Given the description of an element on the screen output the (x, y) to click on. 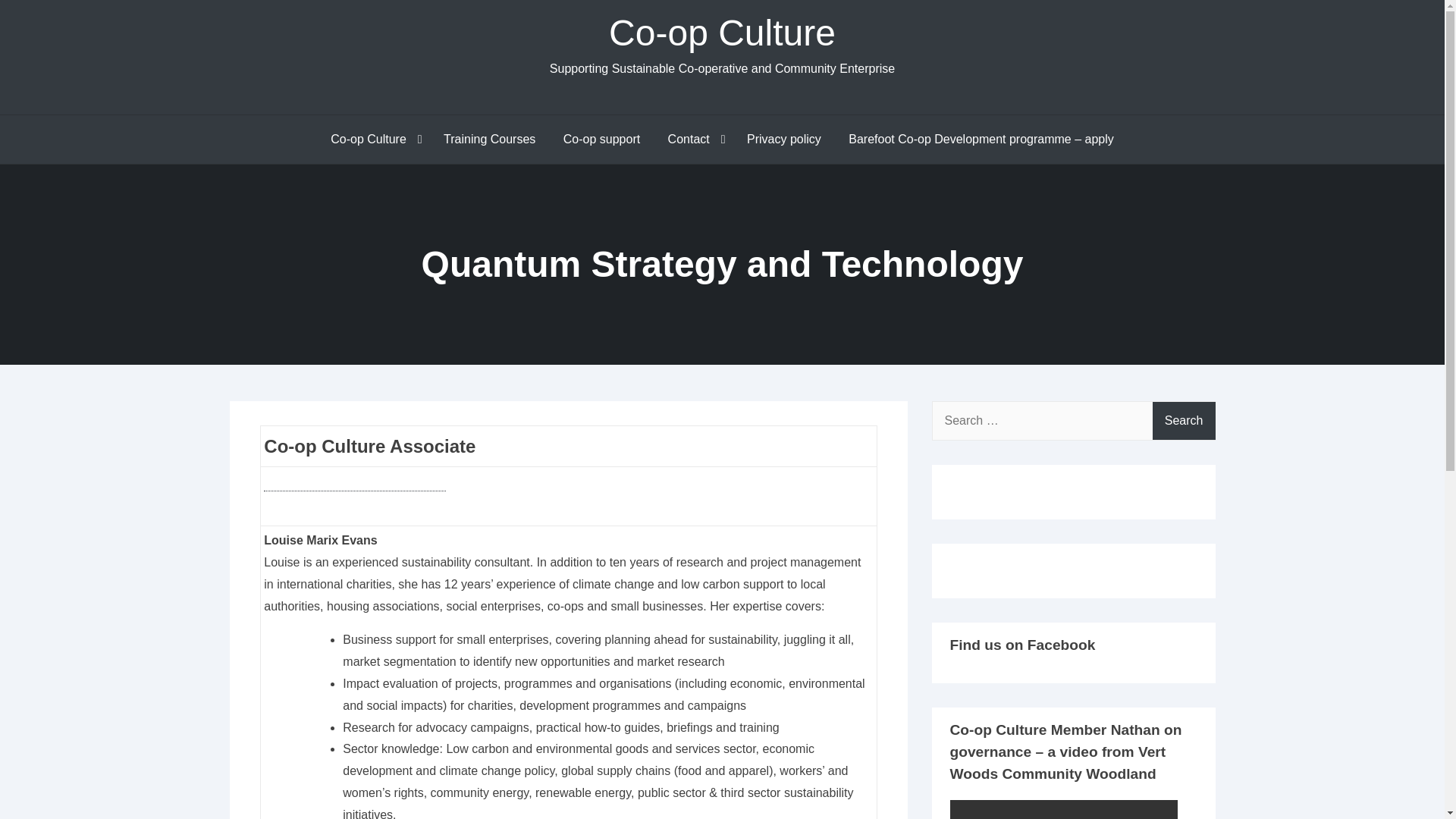
Training Courses (488, 139)
Co-op Culture (721, 33)
Search (1184, 420)
Contact (694, 139)
Privacy policy (783, 139)
Co-op Culture (373, 139)
Co-op support (601, 139)
Search (1184, 420)
Search (1184, 420)
